Given the description of an element on the screen output the (x, y) to click on. 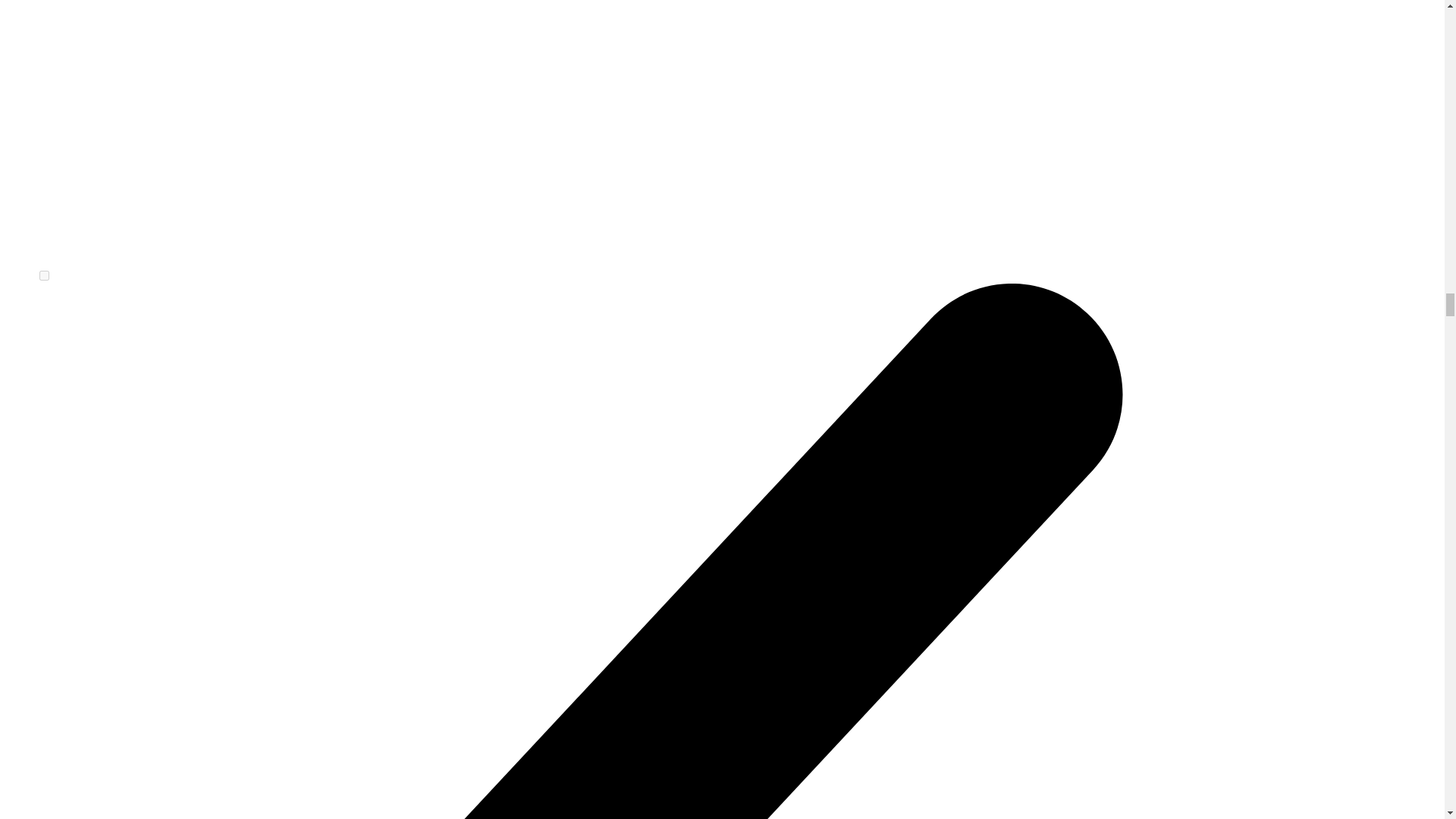
on (44, 275)
